Given the description of an element on the screen output the (x, y) to click on. 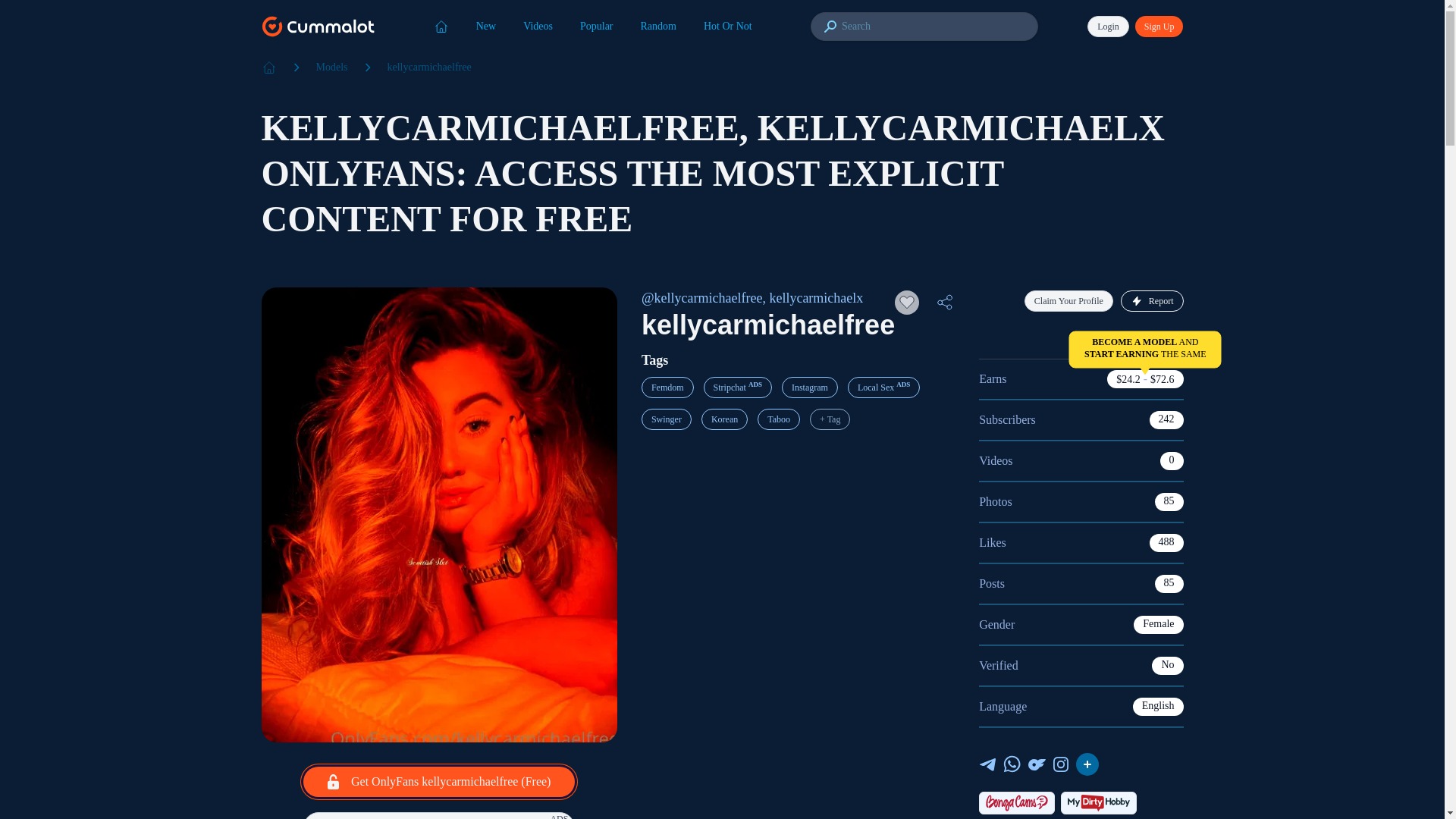
Videos (537, 26)
Popular (596, 26)
Instagram (809, 387)
Hot Or Not (727, 26)
Models (331, 67)
Femdom (668, 387)
Login (1108, 25)
sites bongacams undefined (1016, 802)
Swinger (666, 418)
Sign Up (1159, 25)
